Given the description of an element on the screen output the (x, y) to click on. 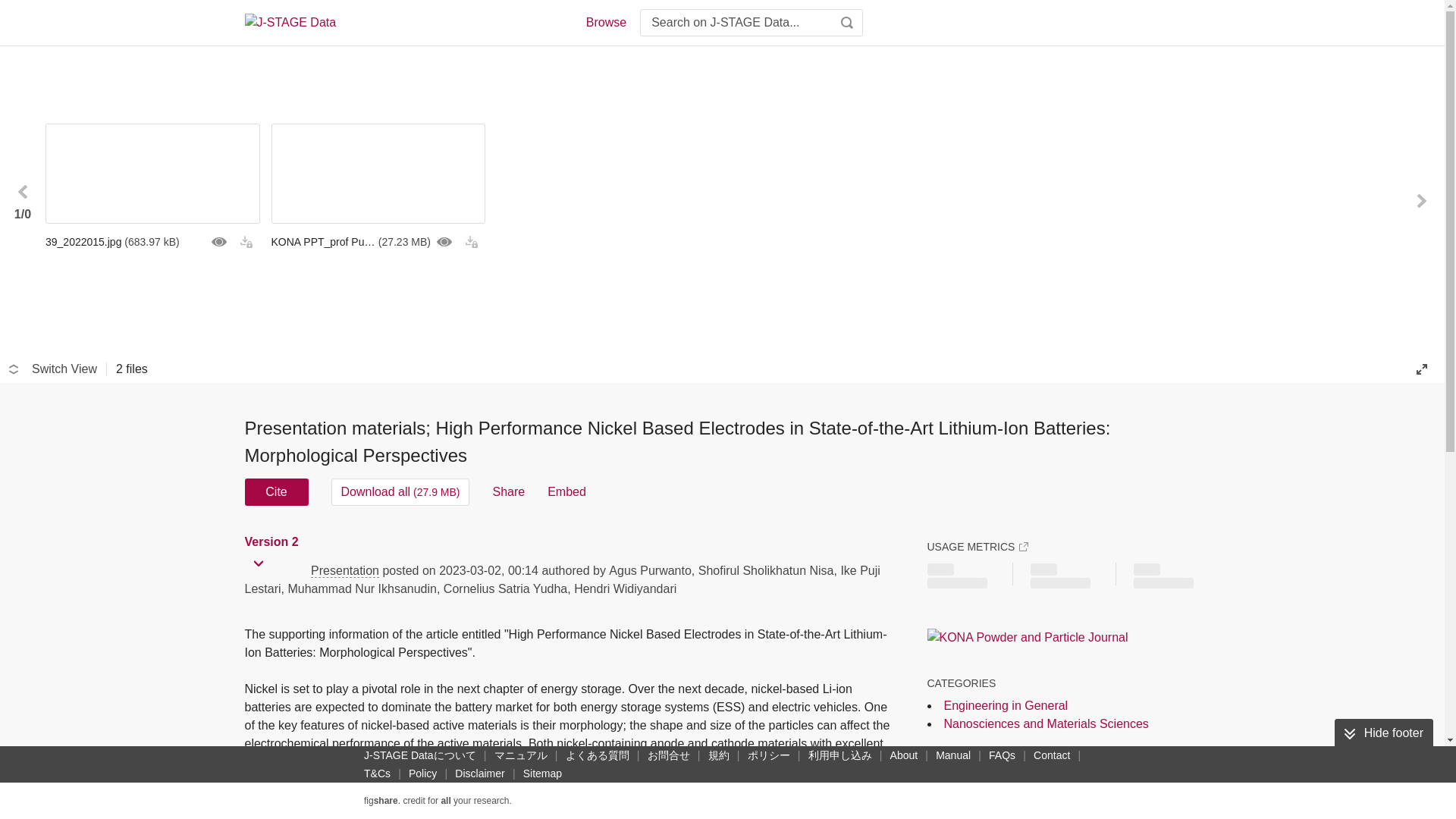
Switch View (52, 369)
Share (508, 492)
Li-ion batteries (1068, 793)
Version 2 (273, 542)
Nanosciences and Materials Sciences (1045, 723)
morphology (968, 793)
Browse (605, 22)
Embed (566, 492)
USAGE METRICS (976, 546)
Cite (275, 492)
